Given the description of an element on the screen output the (x, y) to click on. 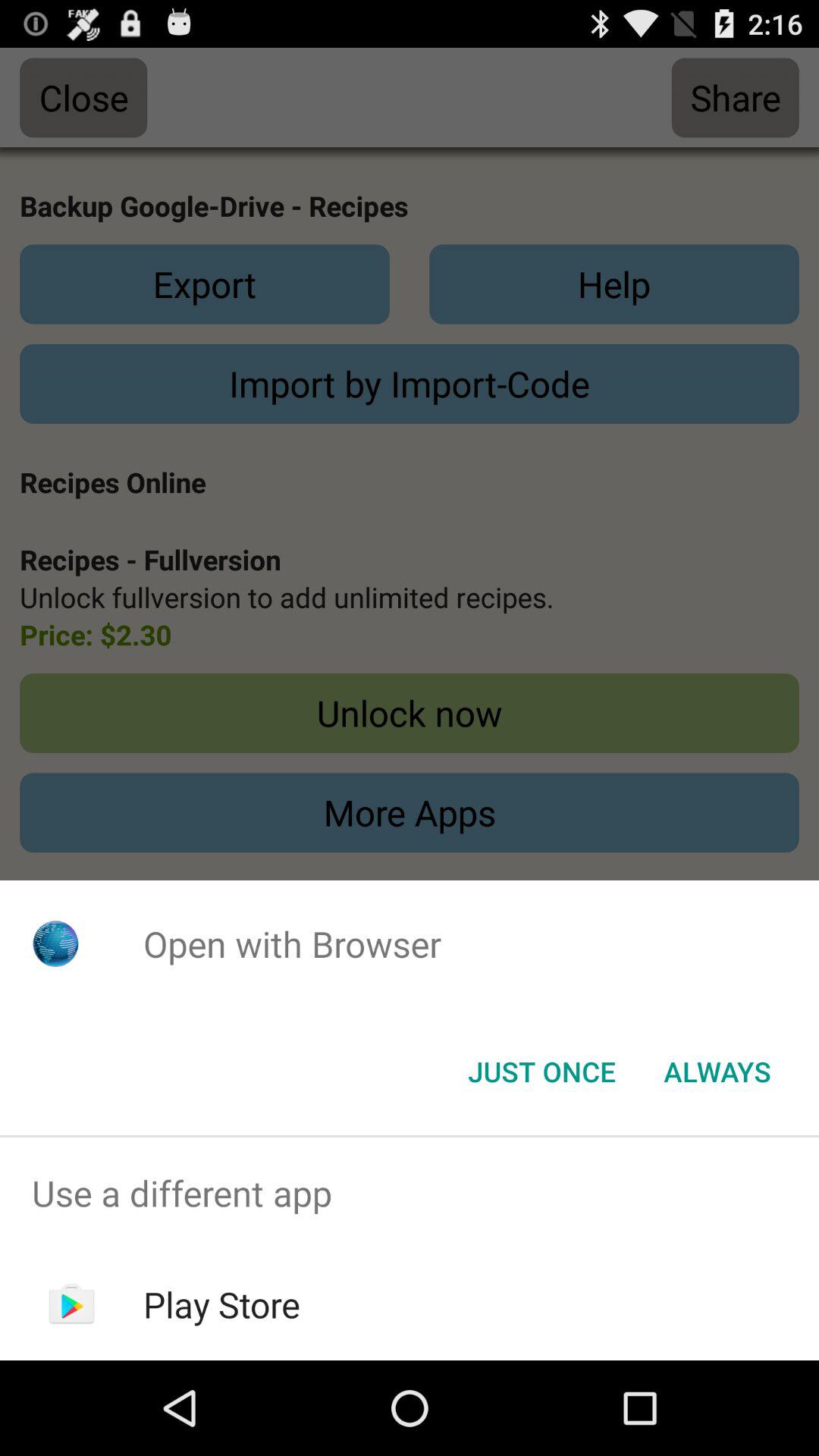
select the icon to the right of just once icon (717, 1071)
